Given the description of an element on the screen output the (x, y) to click on. 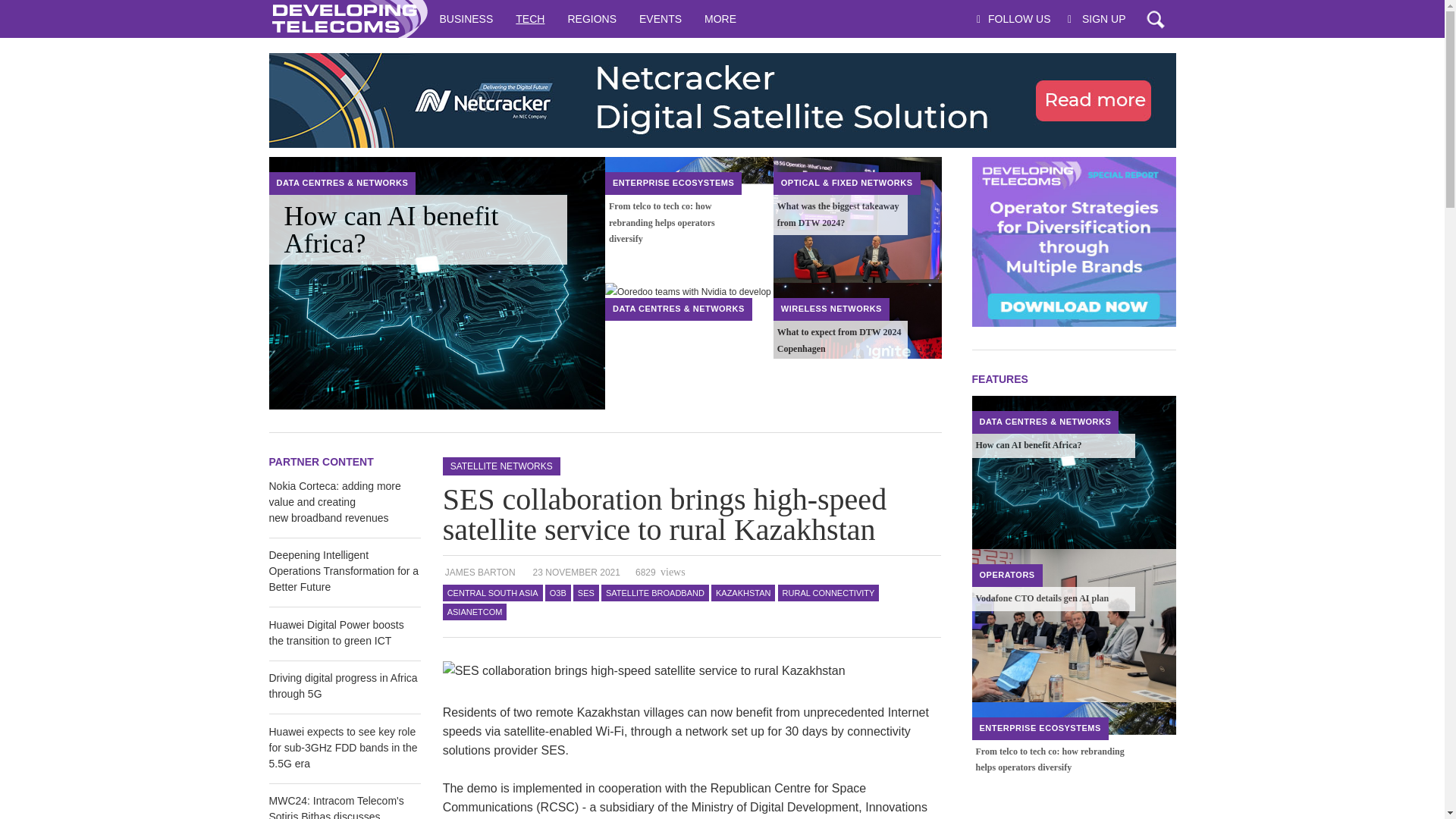
Enterprise Ecosystems (672, 182)
Developing Telecoms (347, 18)
BUSINESS (465, 18)
Click to follow link (720, 100)
REGIONS (591, 18)
TECH (529, 18)
